Given the description of an element on the screen output the (x, y) to click on. 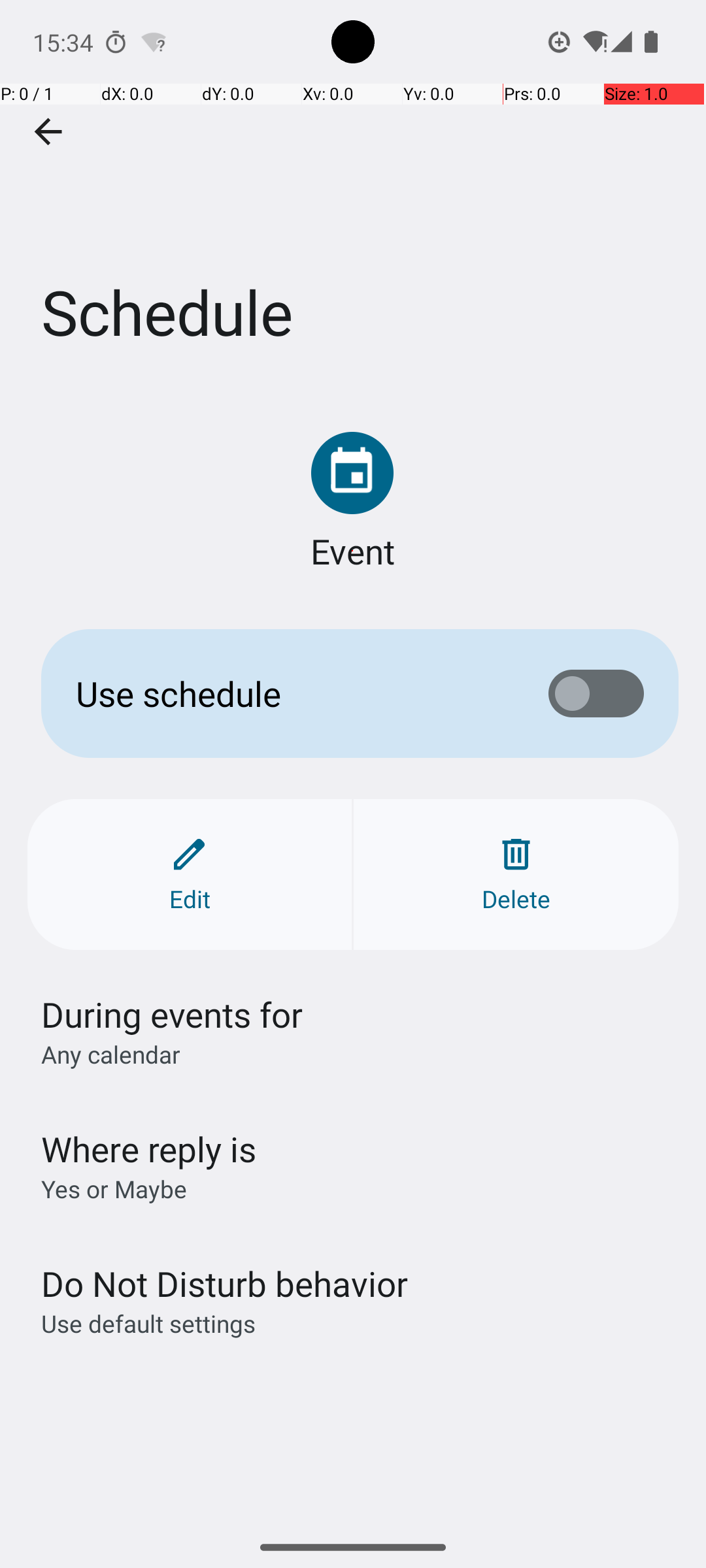
Schedule Element type: android.widget.FrameLayout (353, 195)
Use schedule Element type: android.widget.TextView (291, 693)
During events for Element type: android.widget.TextView (172, 1014)
Any calendar Element type: android.widget.TextView (110, 1053)
Where reply is Element type: android.widget.TextView (148, 1148)
Yes or Maybe Element type: android.widget.TextView (113, 1188)
Do Not Disturb behavior Element type: android.widget.TextView (224, 1283)
Use default settings Element type: android.widget.TextView (148, 1322)
